Given the description of an element on the screen output the (x, y) to click on. 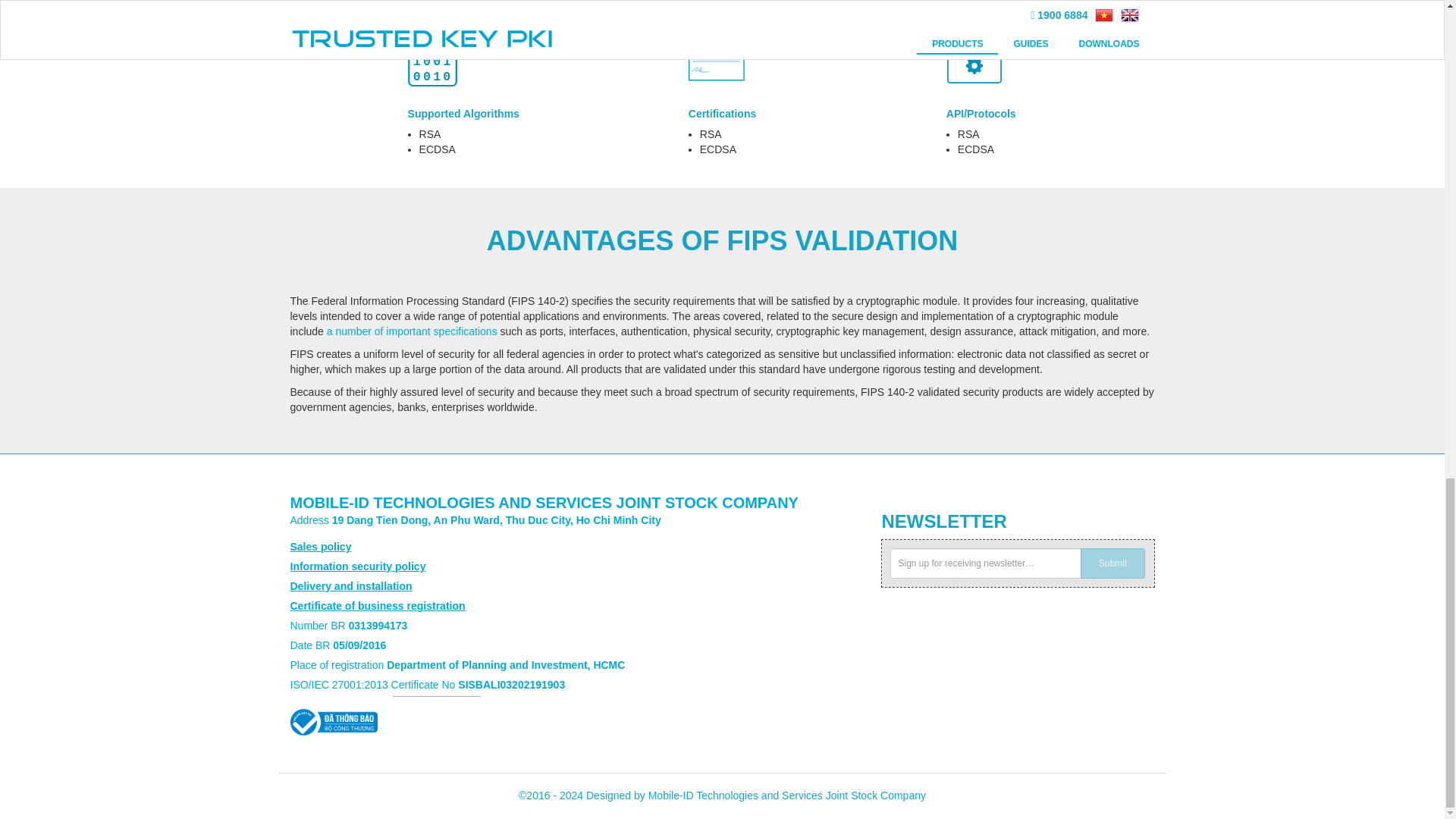
Delivery and installation (350, 585)
Certificate of business registration (376, 605)
Sales policy (319, 546)
00101001 0010 (431, 60)
Submit (1112, 562)
a number of important specifications (413, 331)
Information security policy (357, 566)
